Given the description of an element on the screen output the (x, y) to click on. 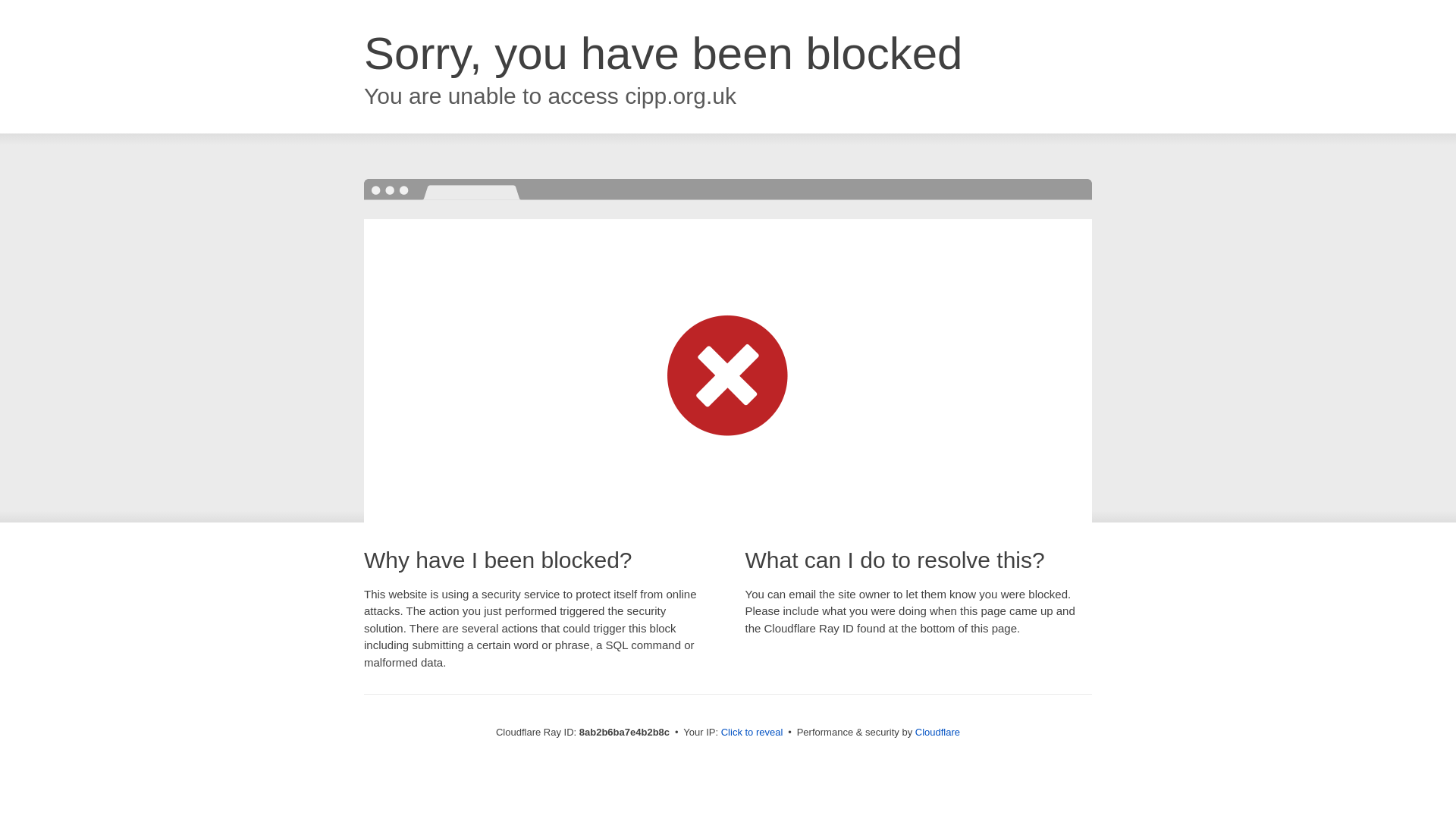
Cloudflare (937, 731)
Click to reveal (751, 732)
